Given the description of an element on the screen output the (x, y) to click on. 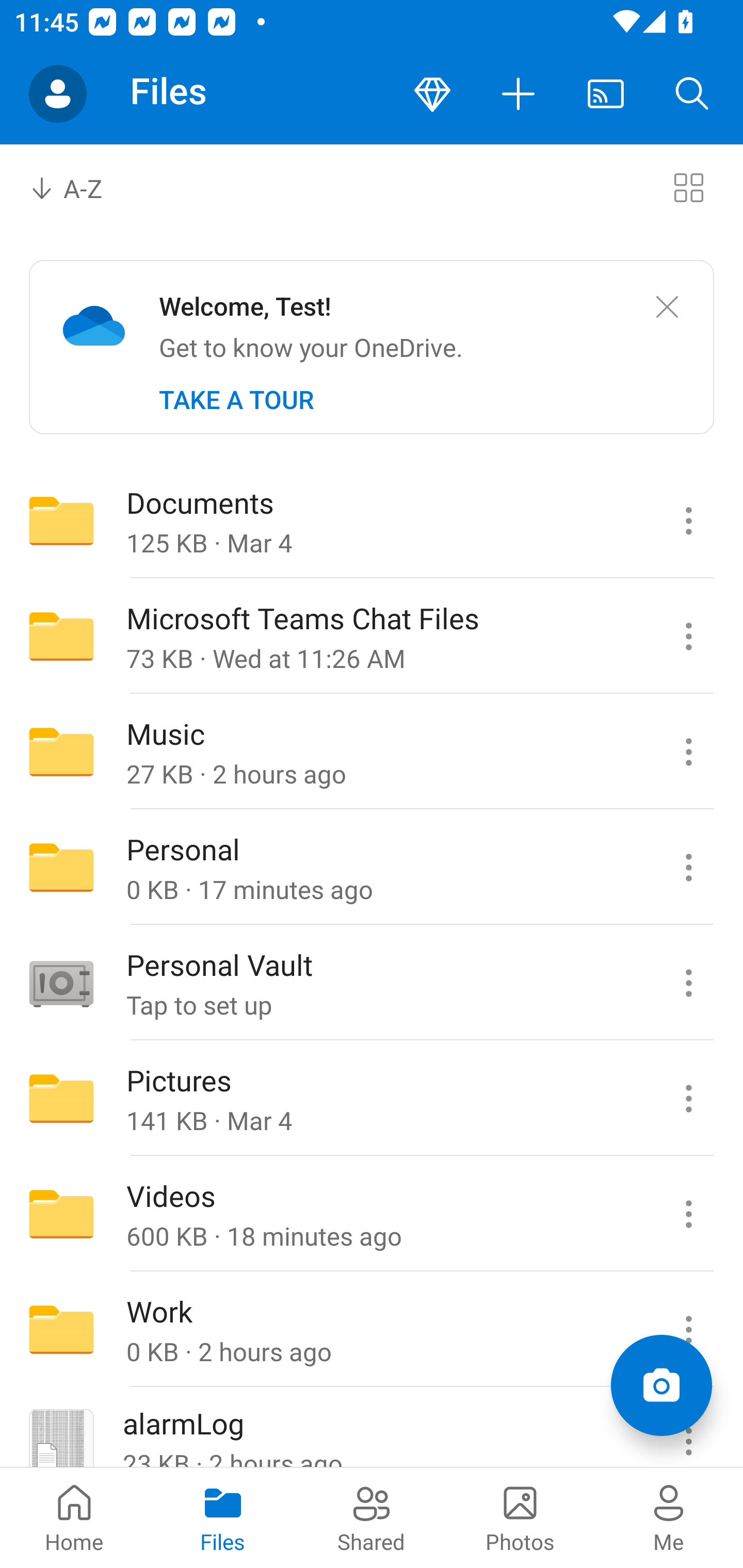
Account switcher (57, 93)
Cast. Disconnected (605, 93)
Premium button (432, 93)
More actions button (518, 93)
Search button (692, 93)
A-Z Sort by combo box, sort by name, A to Z (80, 187)
Switch to tiles view (688, 187)
Close (667, 307)
TAKE A TOUR (236, 399)
Folder Documents 125 KB · Mar 4 Documents commands (371, 520)
Documents commands (688, 520)
Microsoft Teams Chat Files commands (688, 636)
Folder Music 27 KB · 2 hours ago Music commands (371, 751)
Music commands (688, 751)
Personal commands (688, 867)
Personal Vault commands (688, 983)
Folder Pictures 141 KB · Mar 4 Pictures commands (371, 1099)
Pictures commands (688, 1099)
Videos commands (688, 1214)
Folder Work 0 KB · 2 hours ago Work commands (371, 1329)
Work commands (688, 1329)
Add items Scan (660, 1385)
alarmLog commands (688, 1427)
Home pivot Home (74, 1517)
Shared pivot Shared (371, 1517)
Photos pivot Photos (519, 1517)
Me pivot Me (668, 1517)
